Given the description of an element on the screen output the (x, y) to click on. 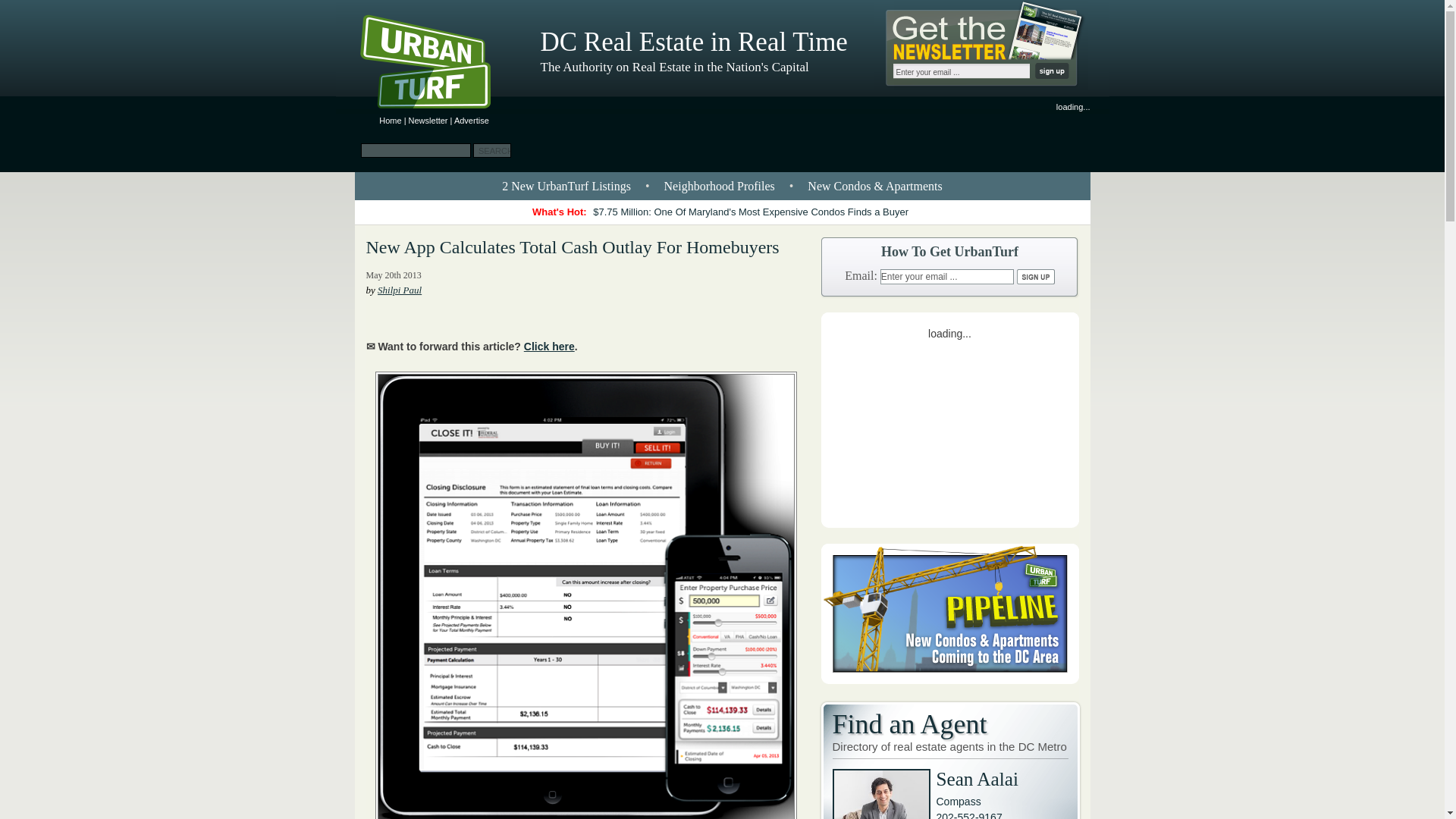
Neighborhood Profiles (719, 185)
2 New UrbanTurf Listings (566, 185)
Click here (549, 346)
Search (492, 150)
Advertise on UrbanTurf (471, 120)
UrbanTurf Pipeline (949, 680)
Home (389, 120)
New App Calculates Total Cash Outlay For Homebuyers (571, 247)
Neighborhood Profiles (719, 185)
